Given the description of an element on the screen output the (x, y) to click on. 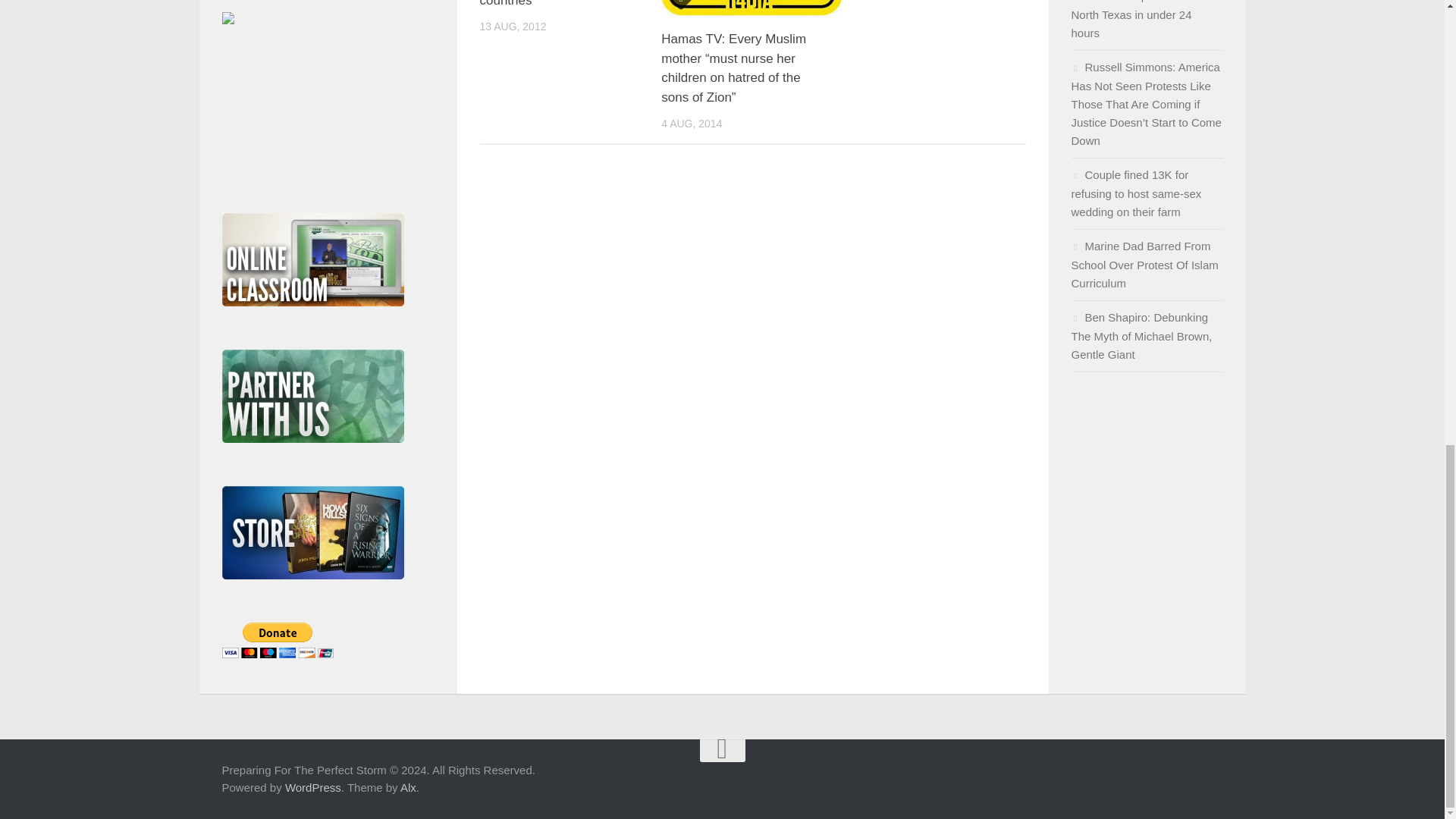
Preparing for the Perfect Storm.com (226, 19)
